Given the description of an element on the screen output the (x, y) to click on. 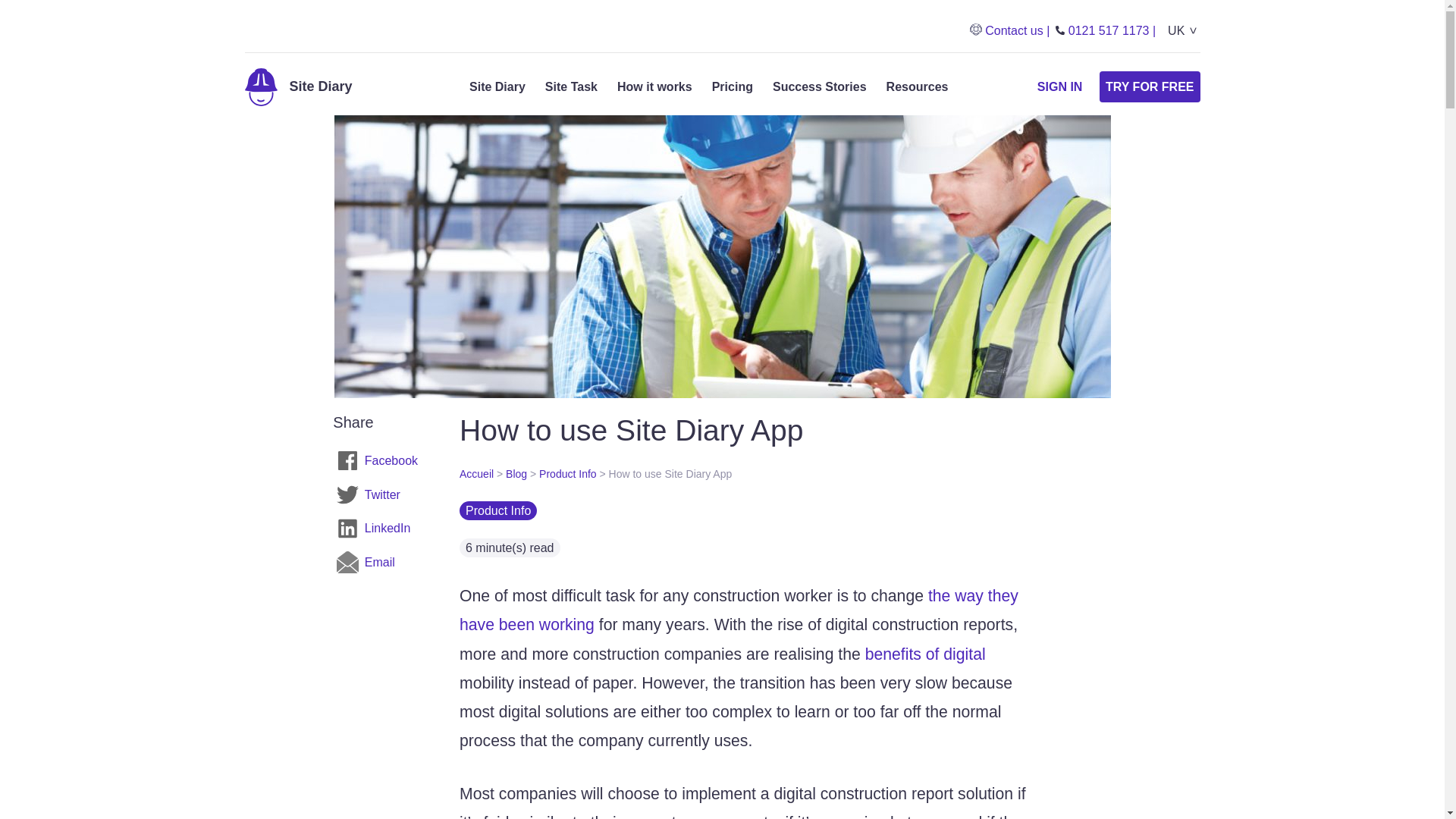
Site Task (570, 86)
LinkedIn (377, 528)
Site Diary (496, 86)
Product Info (567, 473)
Success Stories (819, 86)
Site Diary (298, 86)
Accueil (476, 473)
Facebook (377, 460)
Resources (917, 86)
0121 517 1173 (1105, 30)
Email (377, 562)
the way they have been working (738, 610)
TRY FOR FREE (1149, 86)
Contact us (1009, 30)
How it works (655, 86)
